Given the description of an element on the screen output the (x, y) to click on. 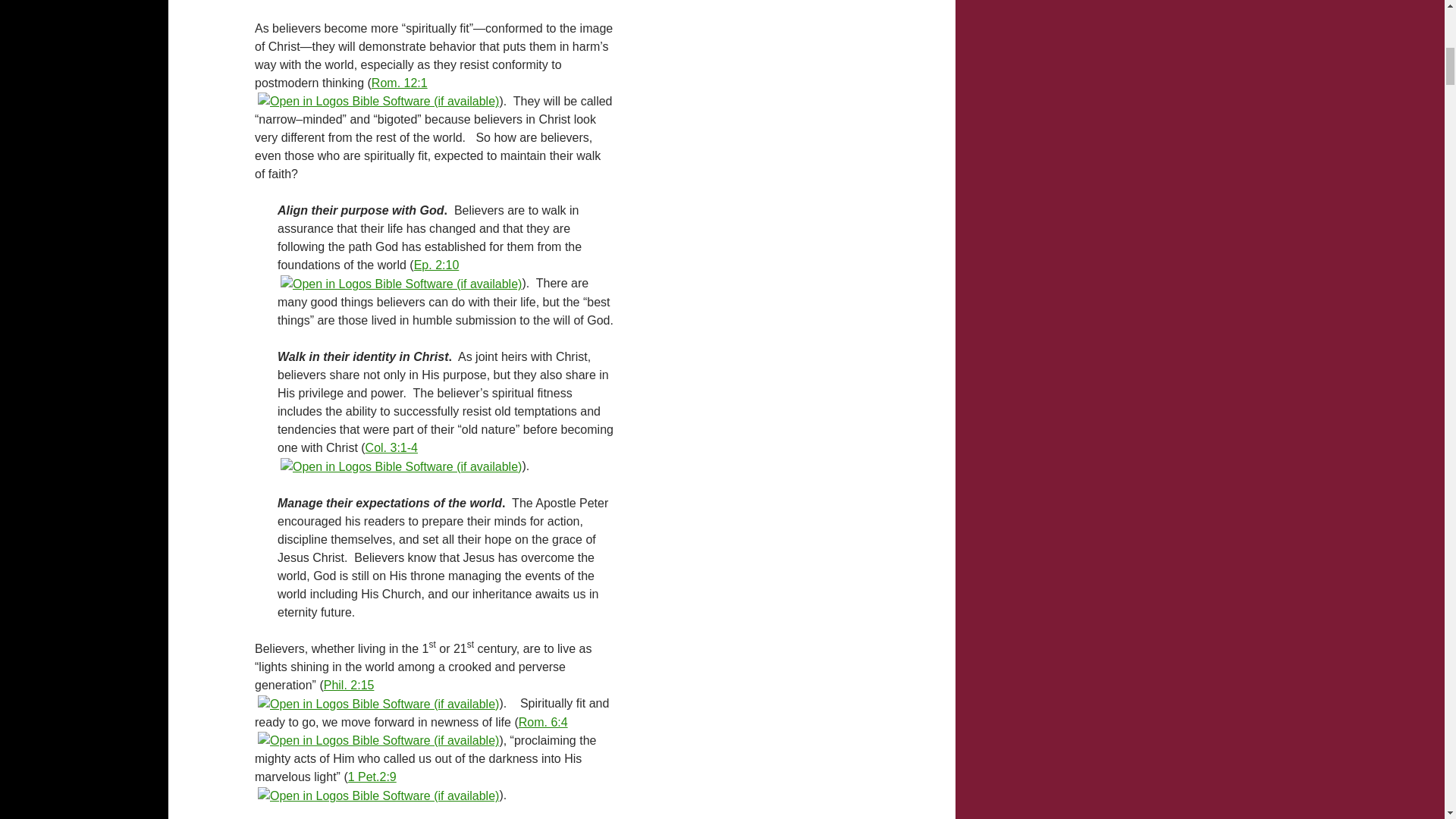
Rom. 12:1 (399, 82)
Ep. 2:10 (436, 264)
